Given the description of an element on the screen output the (x, y) to click on. 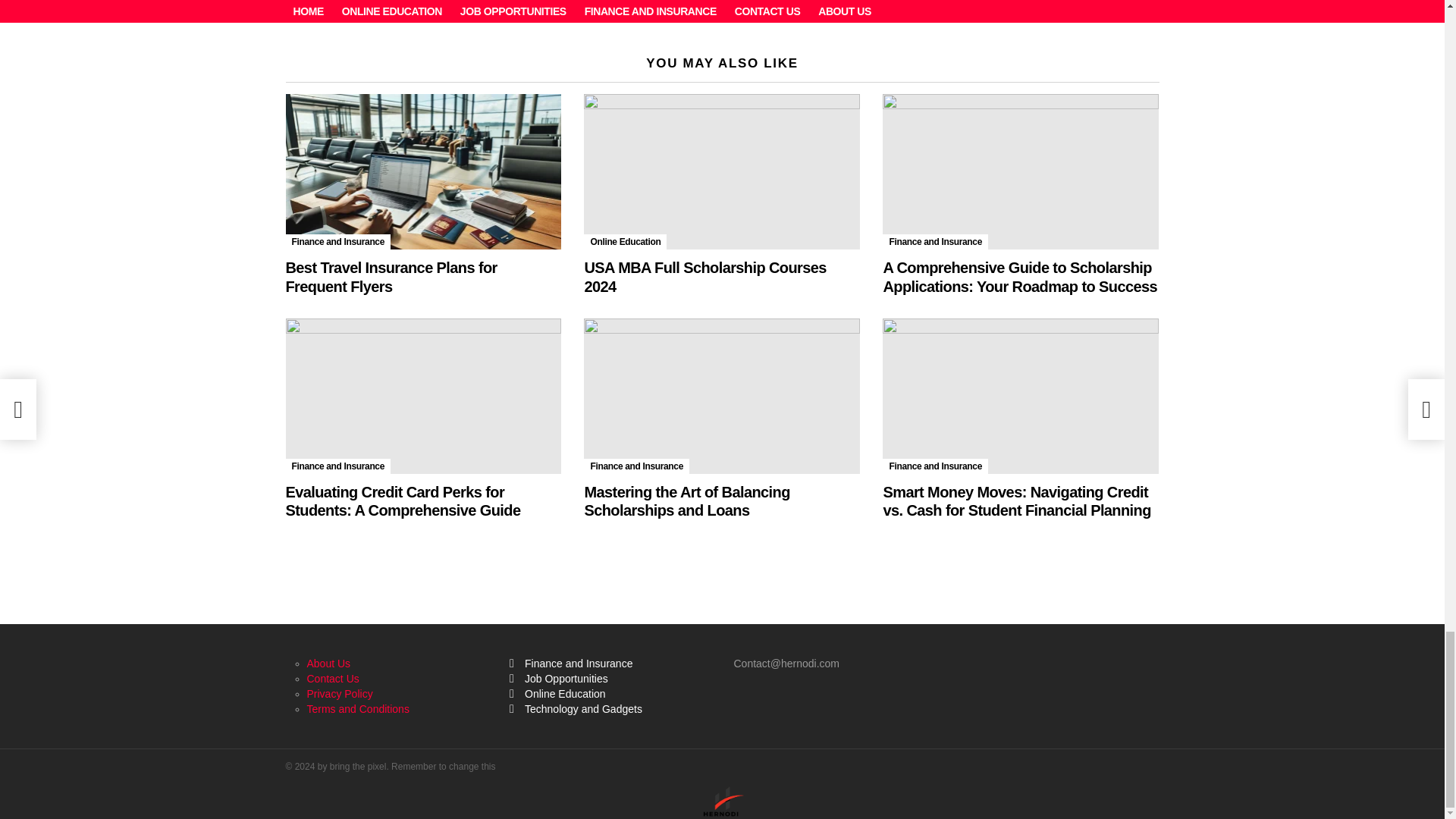
Technology and Gadgets (610, 708)
Job Opportunities (610, 678)
Best Travel Insurance Plans for Frequent Flyers (390, 276)
Finance and Insurance (337, 466)
Finance and Insurance (610, 663)
About Us (327, 663)
Terms and Conditions (357, 708)
USA MBA Full Scholarship Courses 2024 (704, 276)
Finance and Insurance (635, 466)
